Given the description of an element on the screen output the (x, y) to click on. 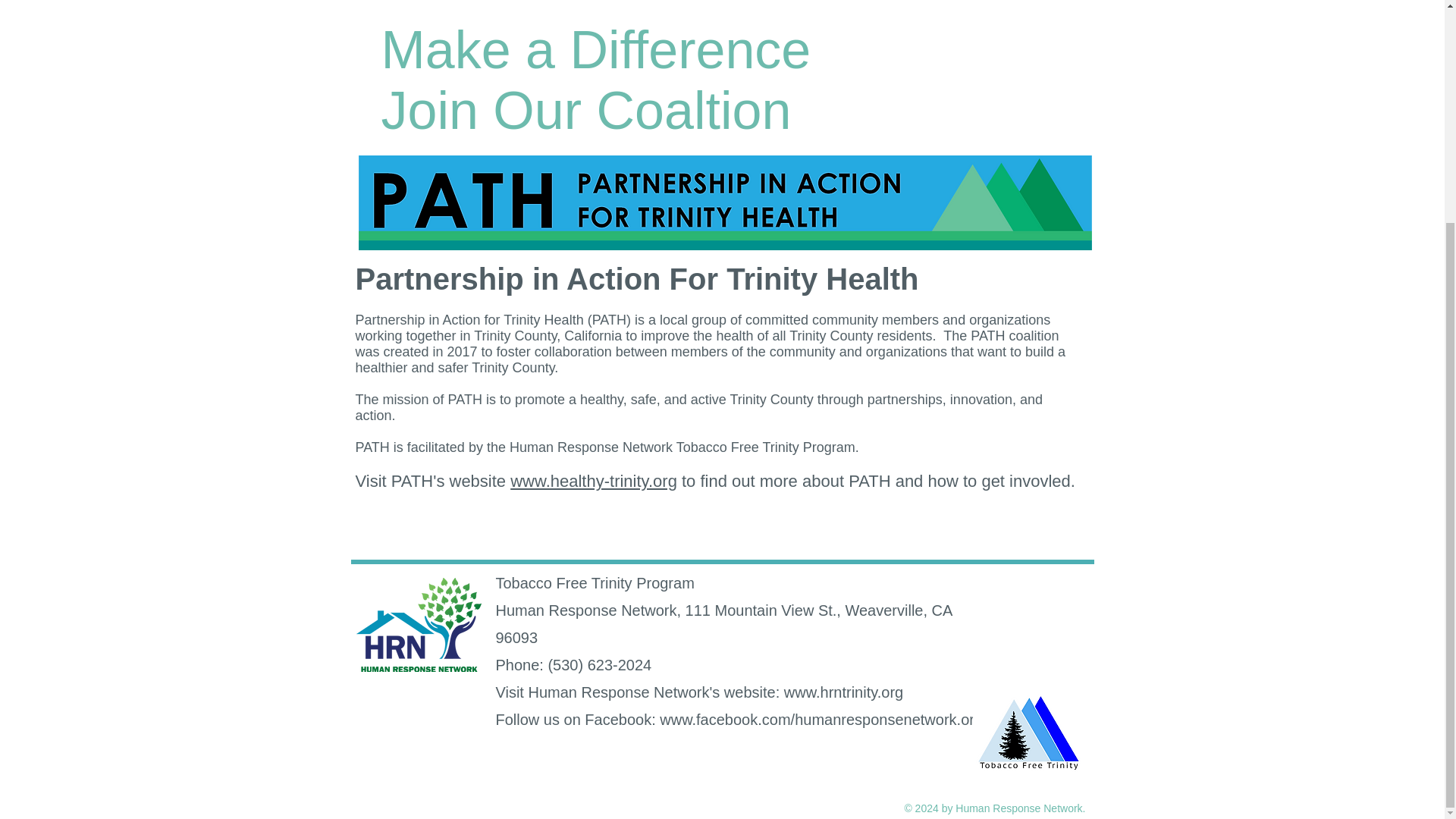
Visit Human Response Network's website: www.hrntrinity.org (700, 692)
www.healthy-trinity.org (594, 480)
